Given the description of an element on the screen output the (x, y) to click on. 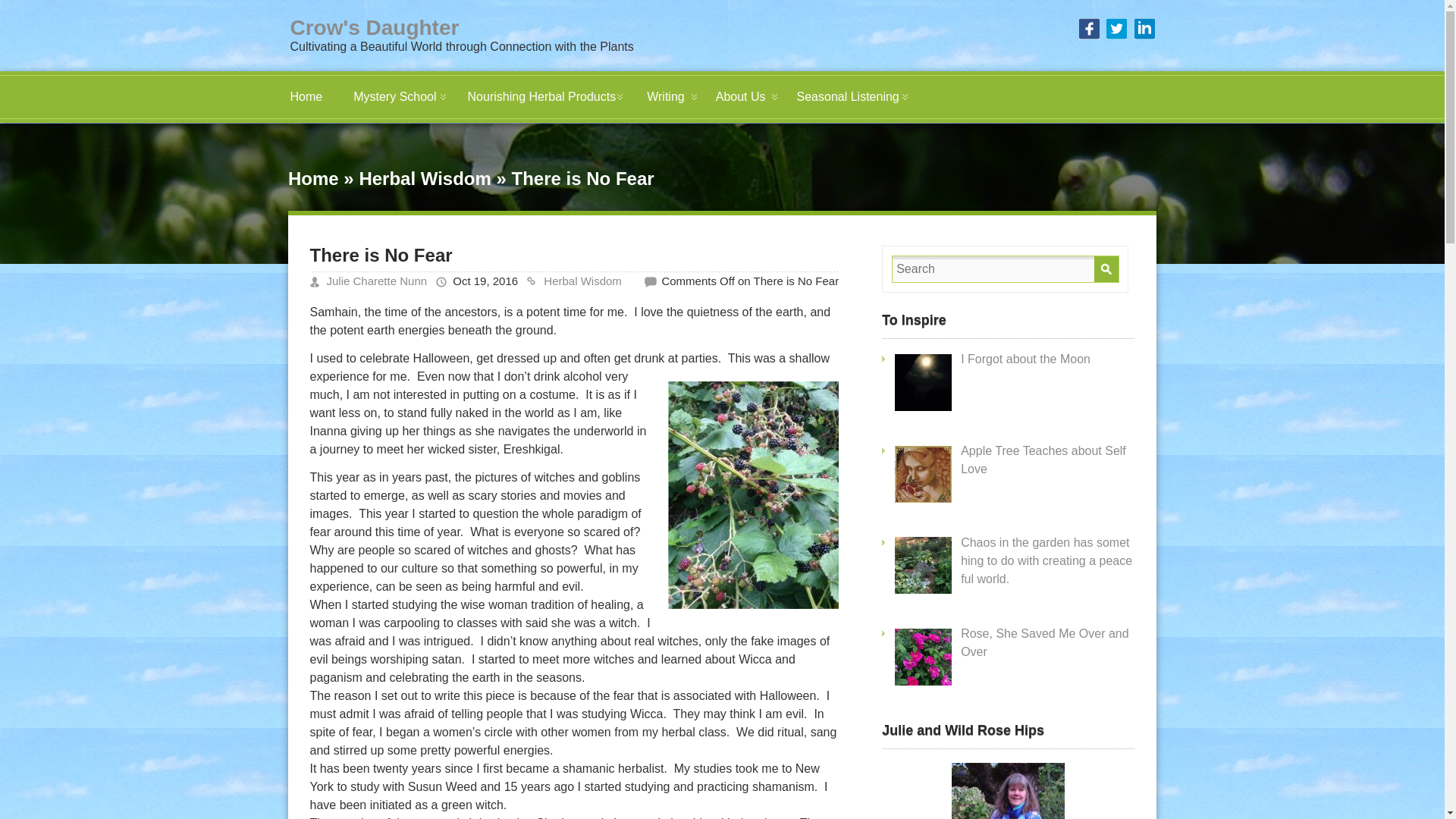
Crow's Daughter (373, 27)
Permanent Link to There is No Fear (379, 254)
Posts by Julie Charette Nunn (376, 280)
